Given the description of an element on the screen output the (x, y) to click on. 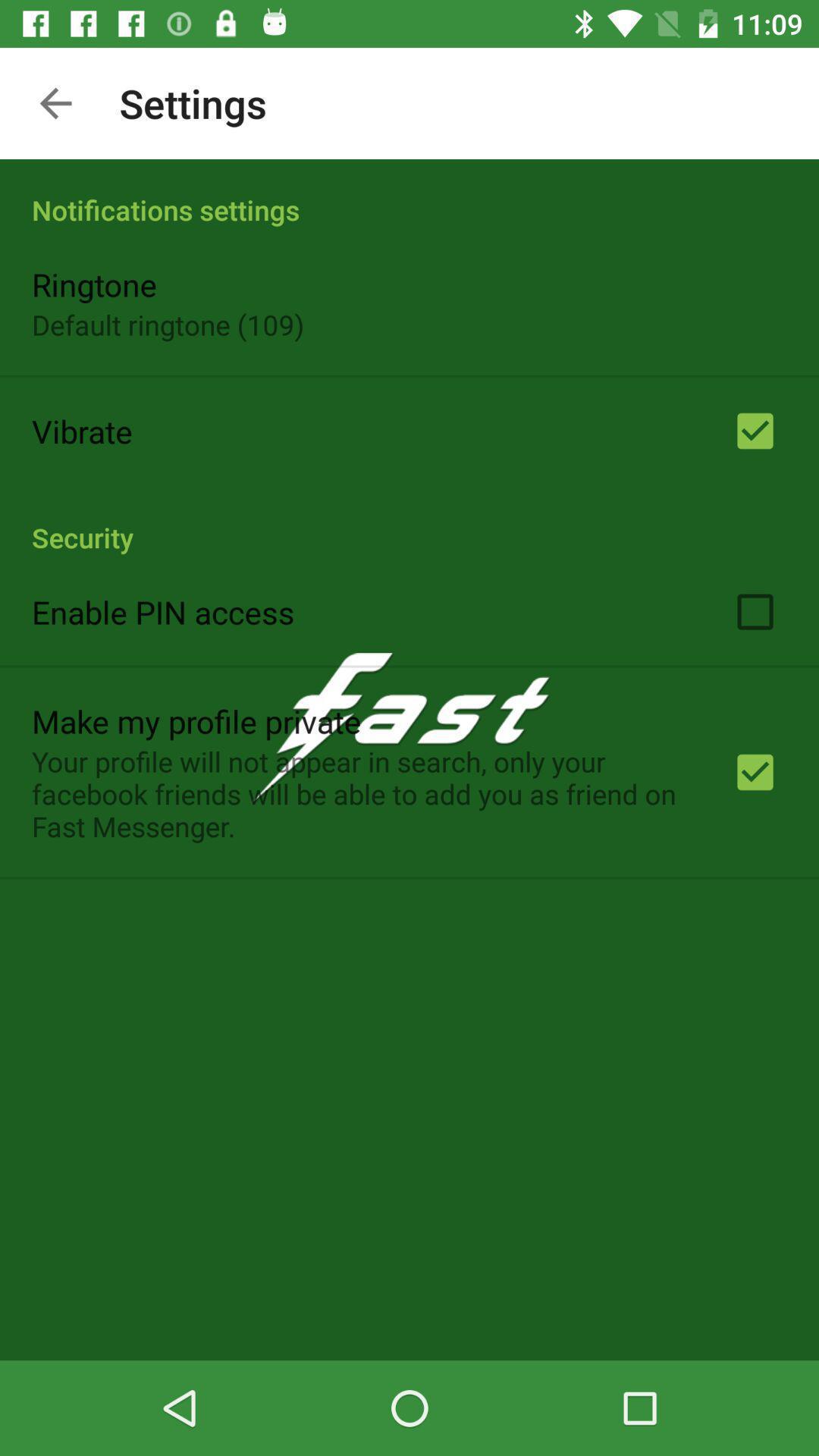
scroll to the make my profile app (196, 720)
